Given the description of an element on the screen output the (x, y) to click on. 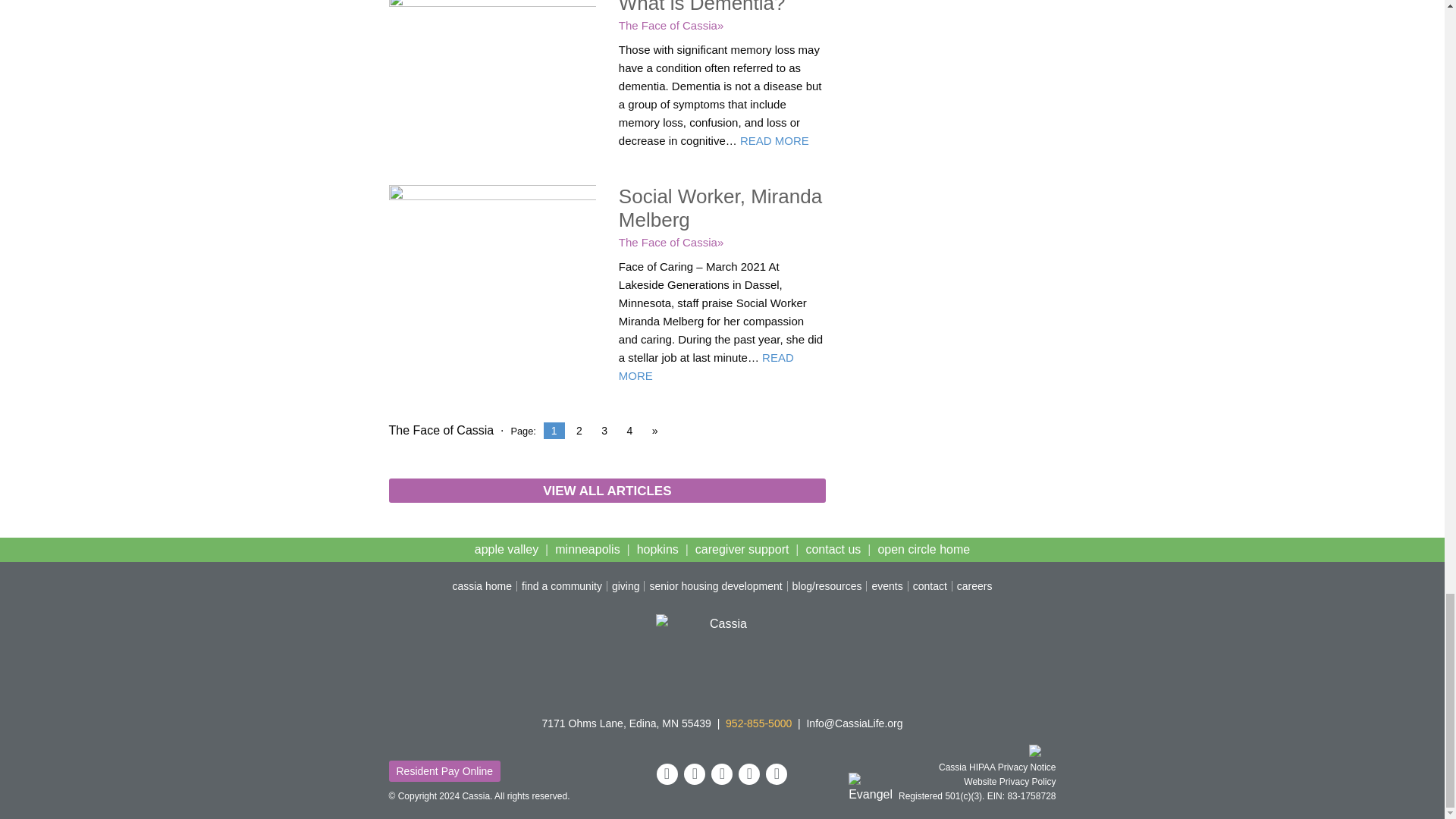
Equal Housing Opportunity and Handicap Accessible (1042, 750)
